Given the description of an element on the screen output the (x, y) to click on. 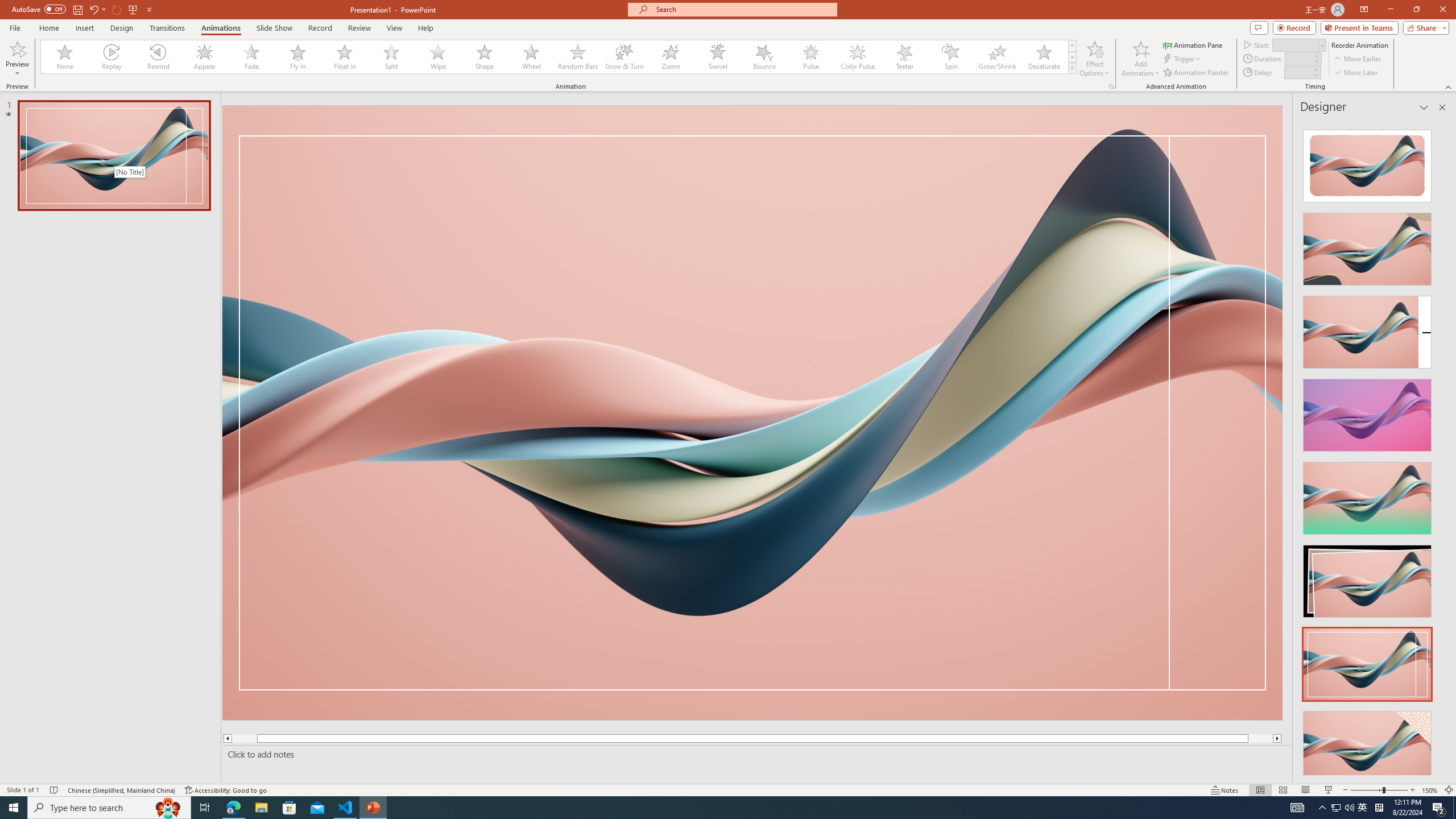
Color Pulse (857, 56)
Animation Delay (1297, 72)
Swivel (717, 56)
Move Earlier (1357, 58)
Wipe (437, 56)
